Given the description of an element on the screen output the (x, y) to click on. 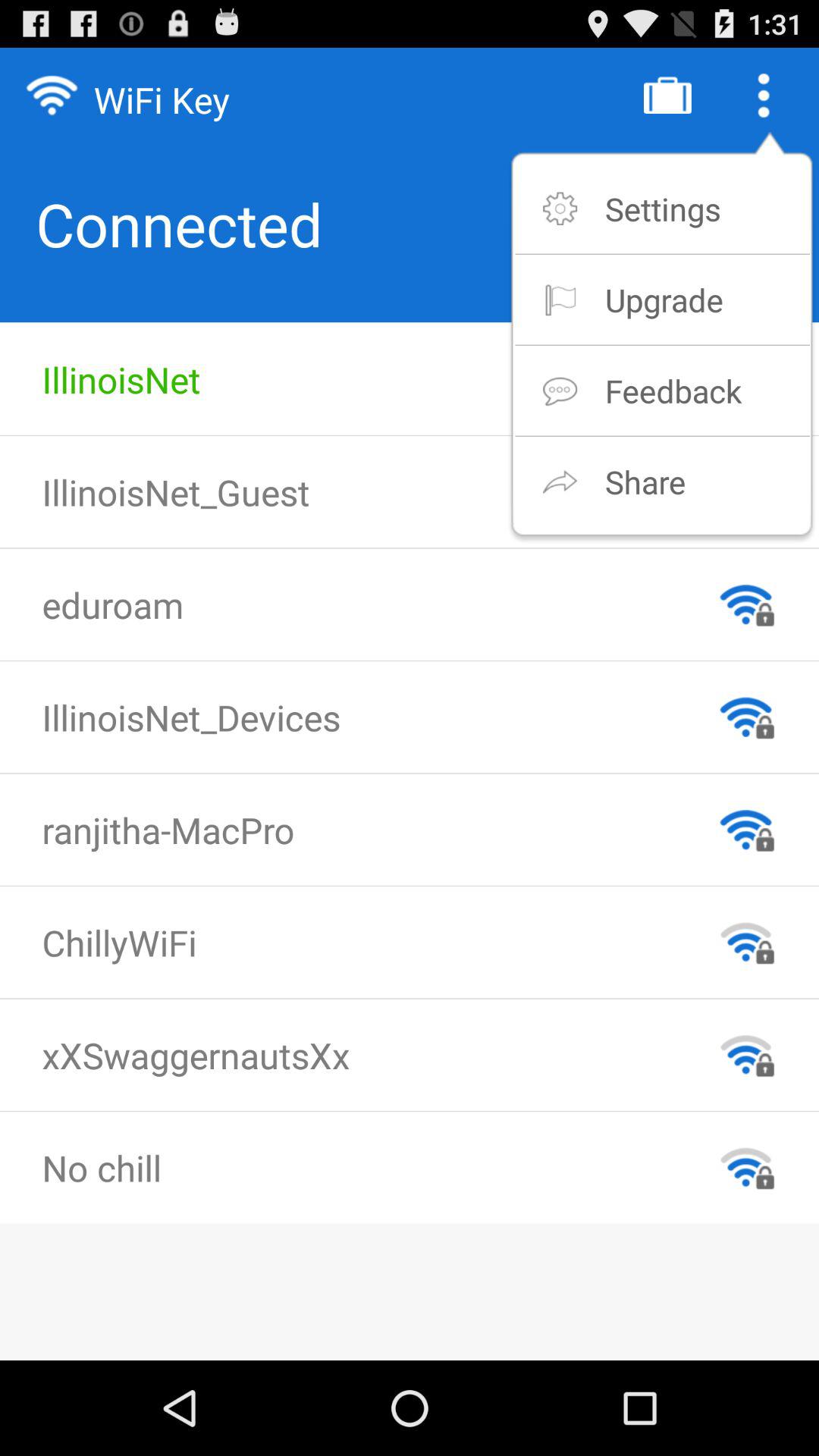
open settings (663, 208)
